Given the description of an element on the screen output the (x, y) to click on. 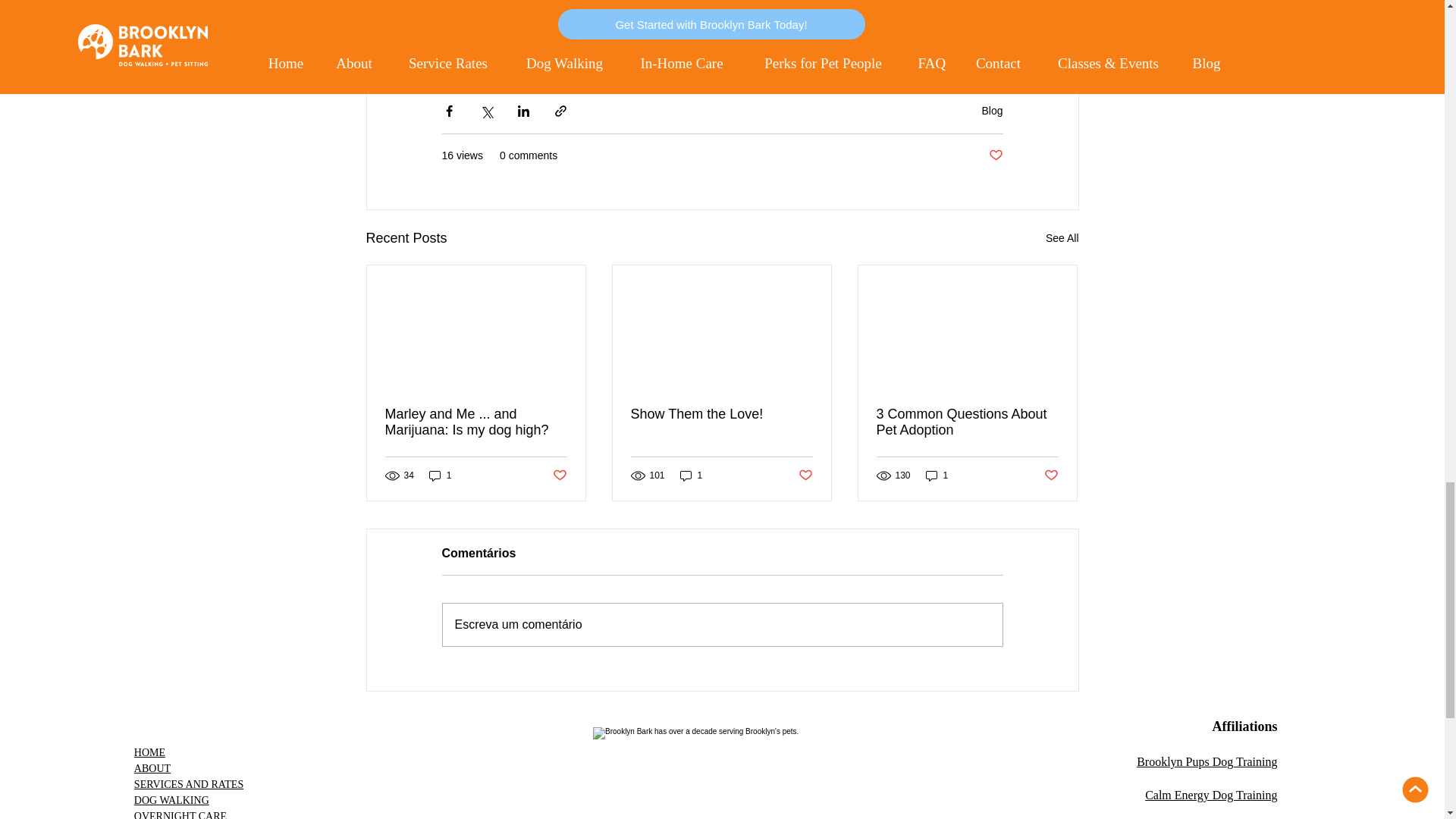
Blog (992, 110)
Post not marked as liked (995, 155)
